Given the description of an element on the screen output the (x, y) to click on. 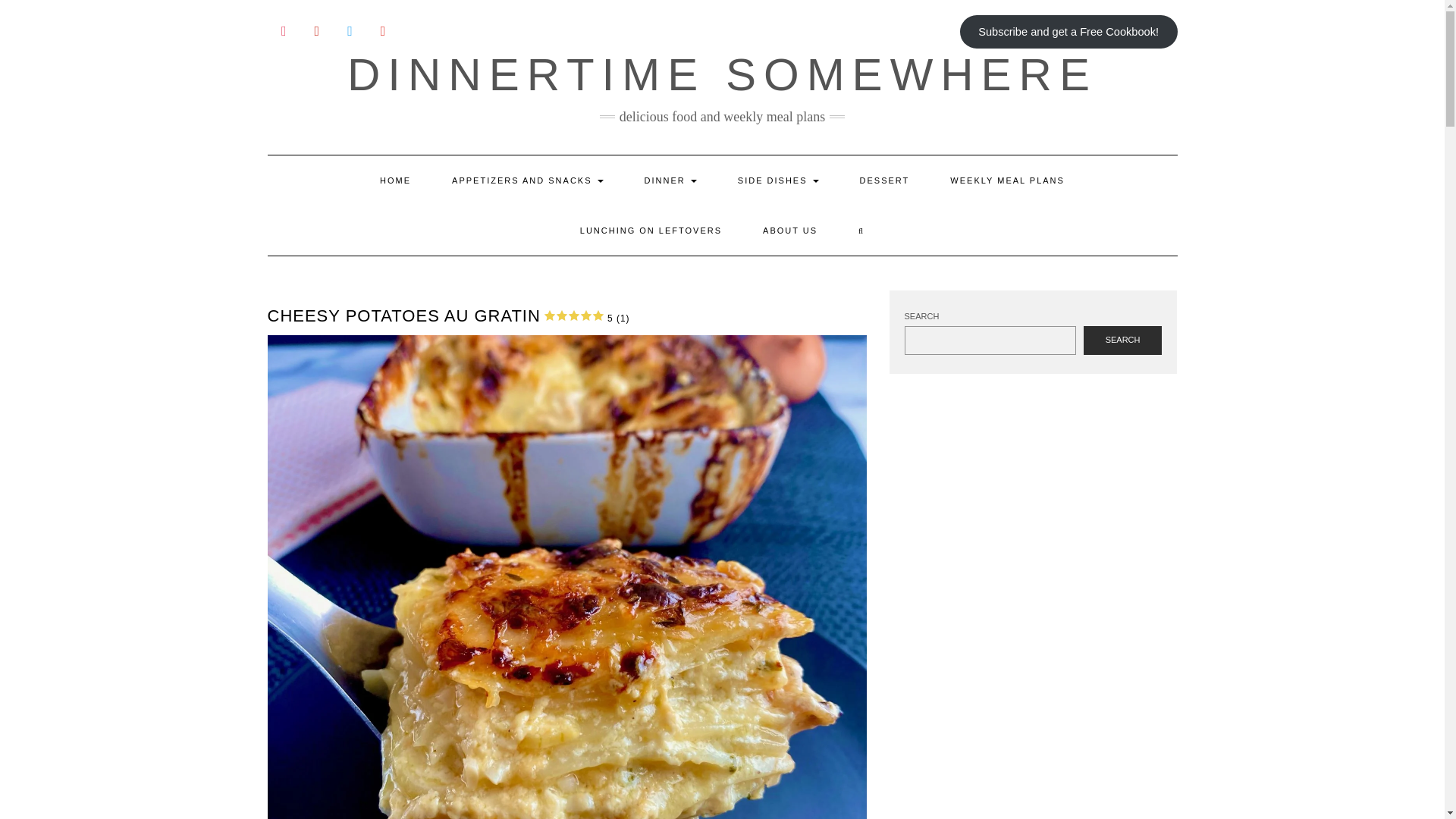
Instagram (282, 31)
LUNCHING ON LEFTOVERS (650, 230)
Advertisement (1032, 506)
Twitter (349, 31)
Pinterest (316, 31)
Youtube (382, 31)
APPETIZERS AND SNACKS (526, 180)
ABOUT US (790, 230)
WEEKLY MEAL PLANS (1007, 180)
DINNER (670, 180)
DESSERT (885, 180)
DINNERTIME SOMEWHERE (722, 74)
HOME (394, 180)
Subscribe and get a Free Cookbook! (1068, 31)
SIDE DISHES (778, 180)
